Given the description of an element on the screen output the (x, y) to click on. 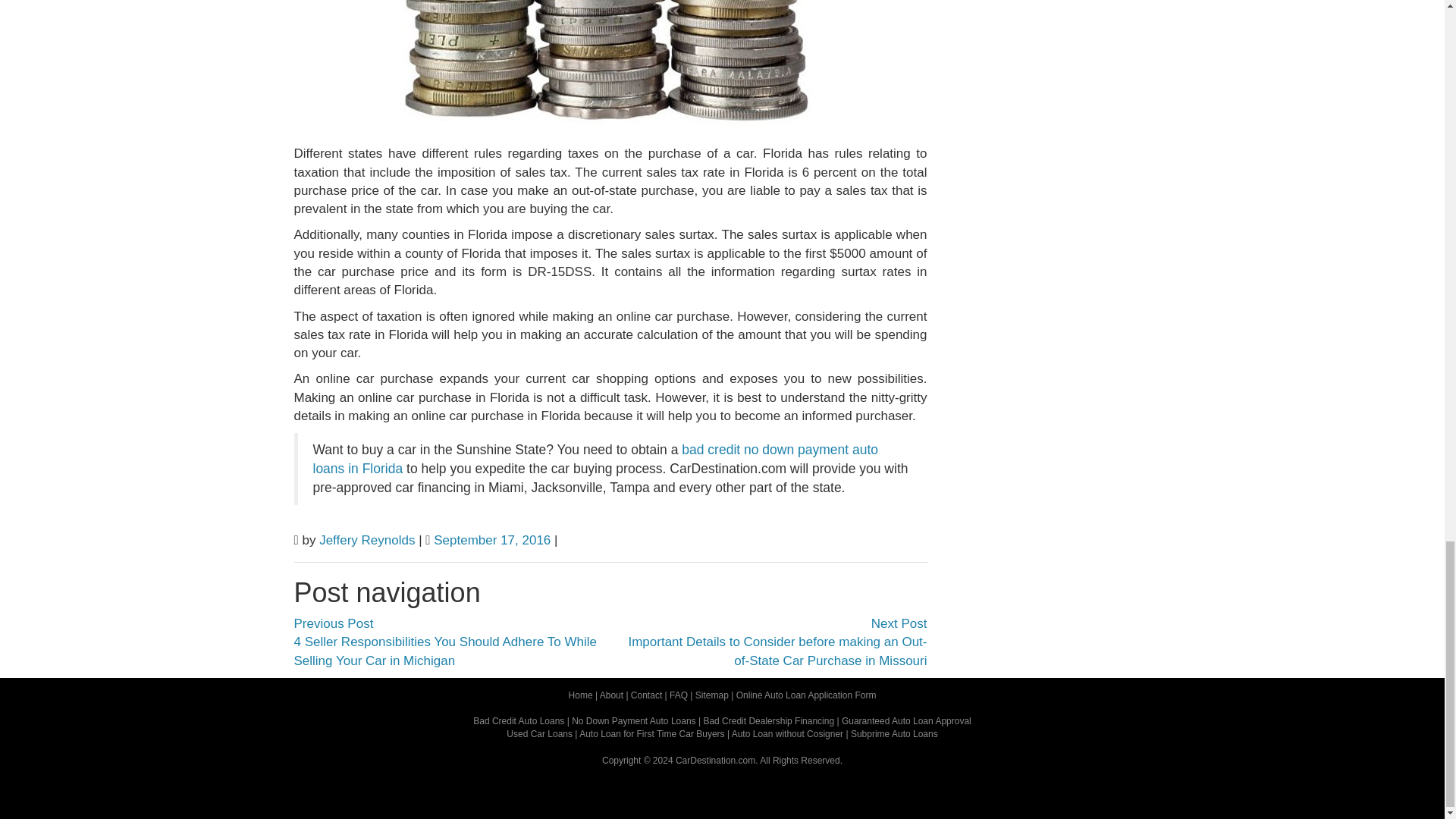
About (611, 695)
Bad Credit Dealership Financing (768, 720)
Auto Loan for First Time Car Buyers (651, 733)
No Down Payment Auto Loans (633, 720)
Online Auto Loan Application Form (806, 695)
Bad Credit Auto Loans (518, 720)
FAQ (678, 695)
Contact (646, 695)
